Given the description of an element on the screen output the (x, y) to click on. 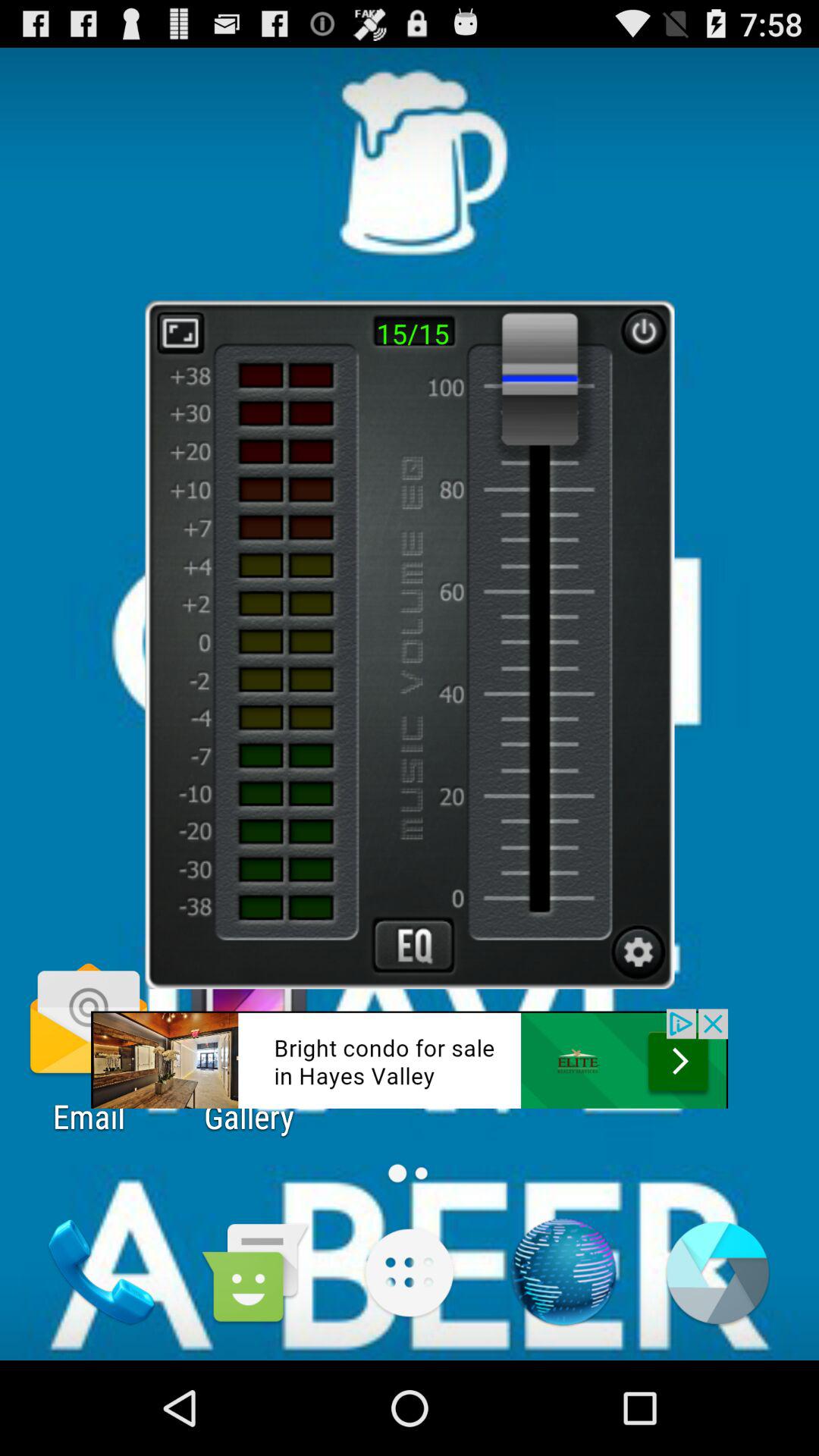
open equalizer (413, 945)
